Given the description of an element on the screen output the (x, y) to click on. 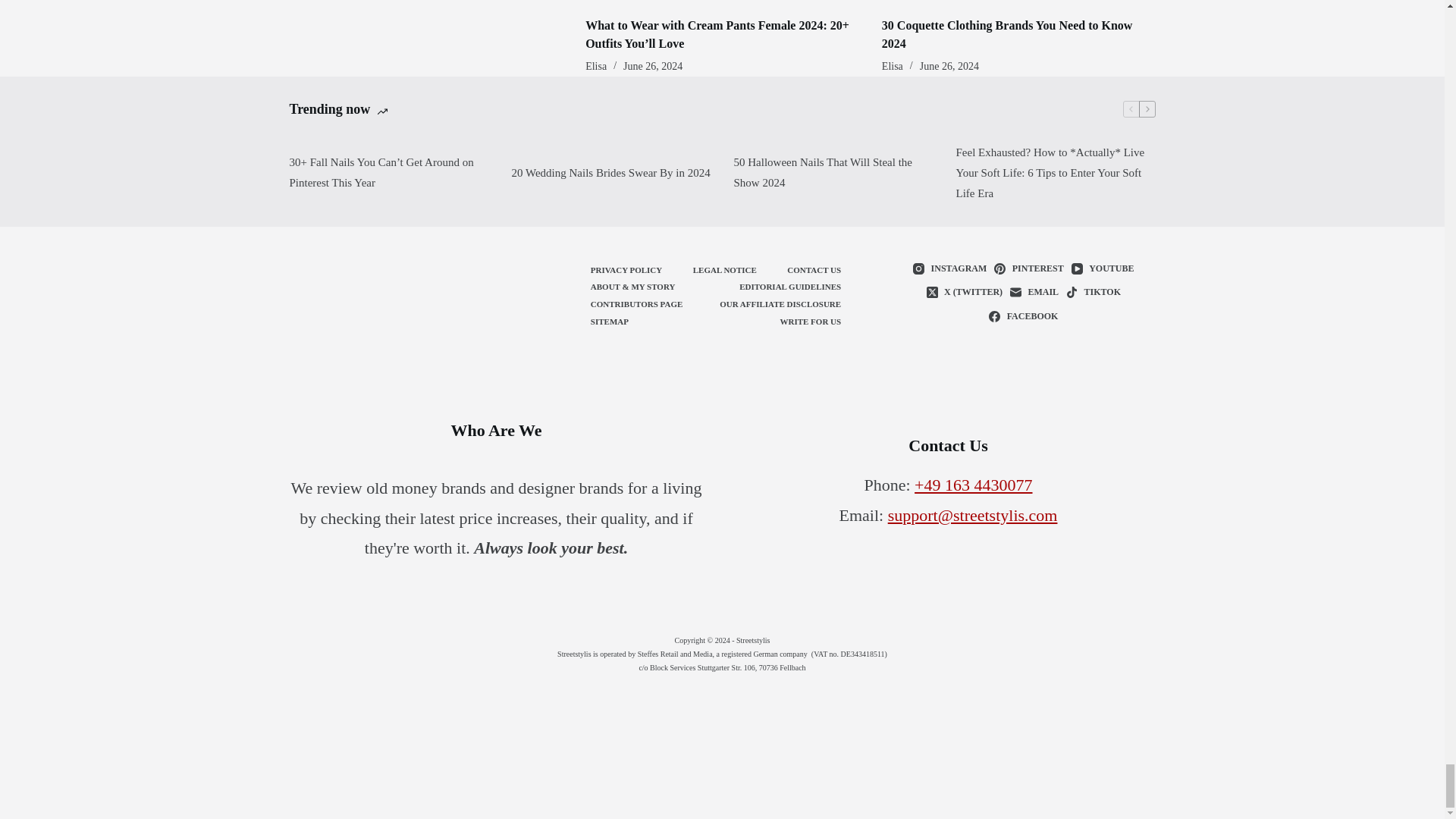
DMCA.com Protection Status (721, 741)
Posts by Elisa (596, 66)
Posts by Elisa (892, 66)
